Given the description of an element on the screen output the (x, y) to click on. 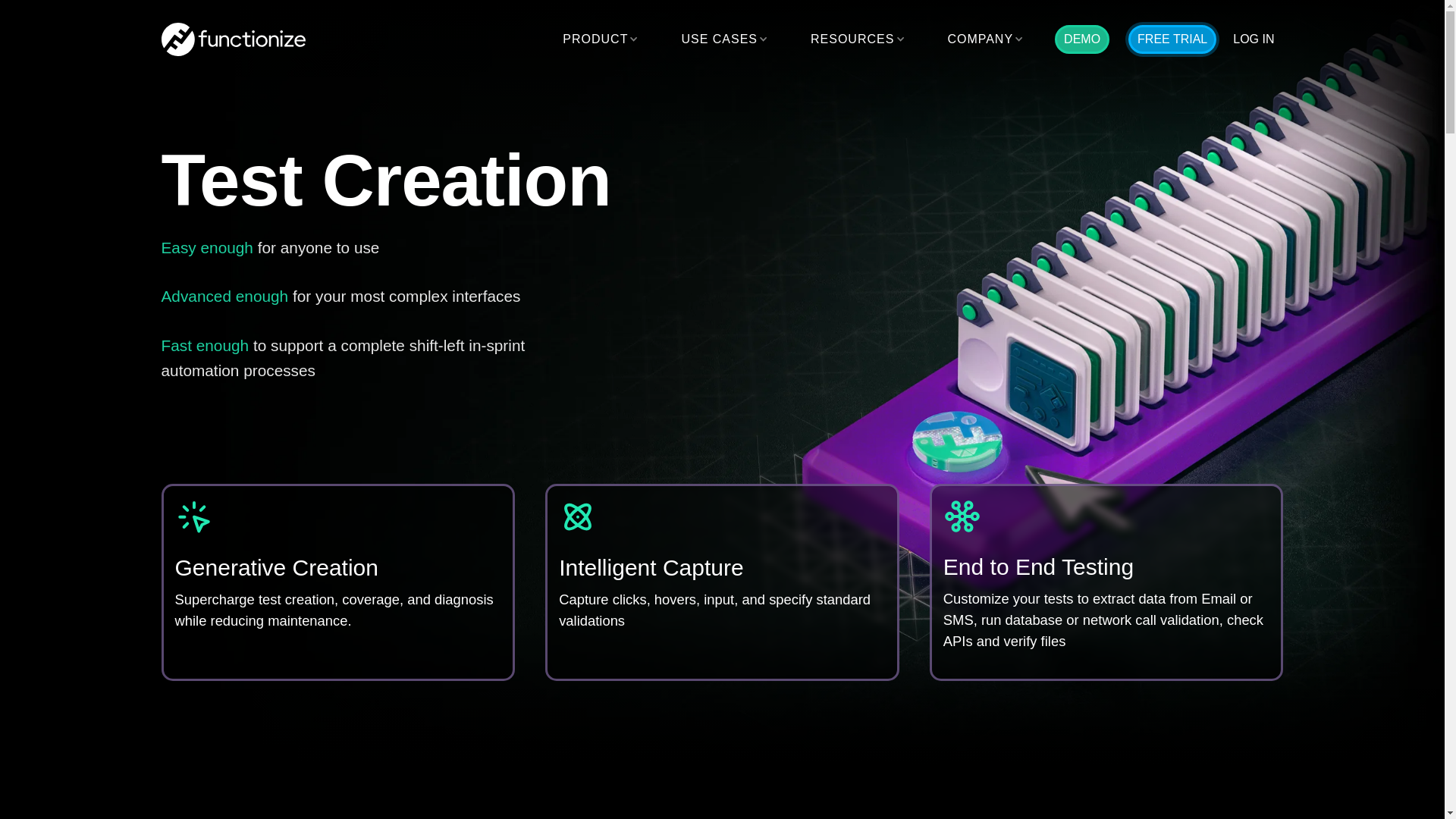
PRODUCT (594, 38)
USE CASES (719, 38)
RESOURCES (851, 38)
